Given the description of an element on the screen output the (x, y) to click on. 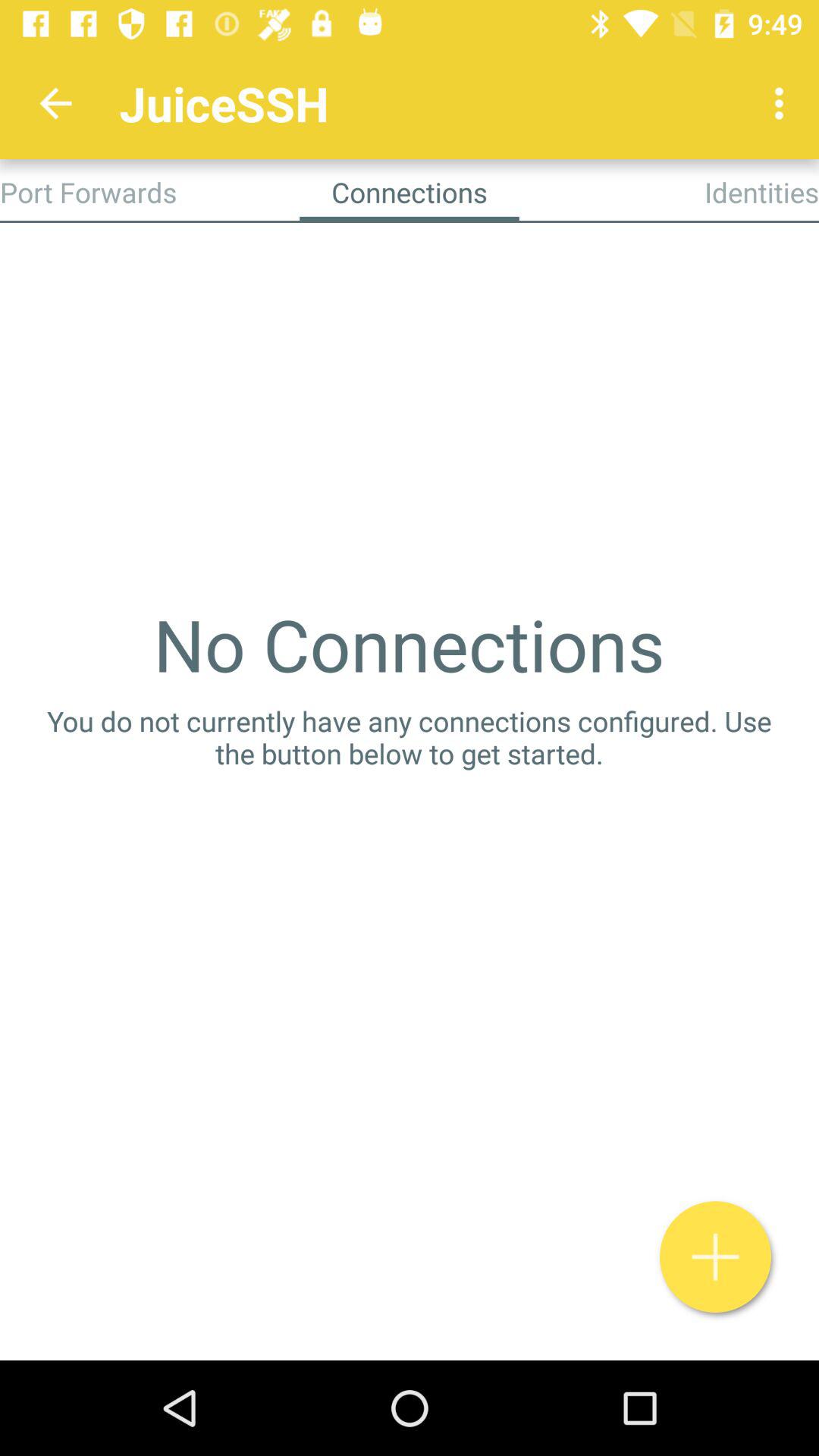
swipe to the identities item (761, 192)
